Given the description of an element on the screen output the (x, y) to click on. 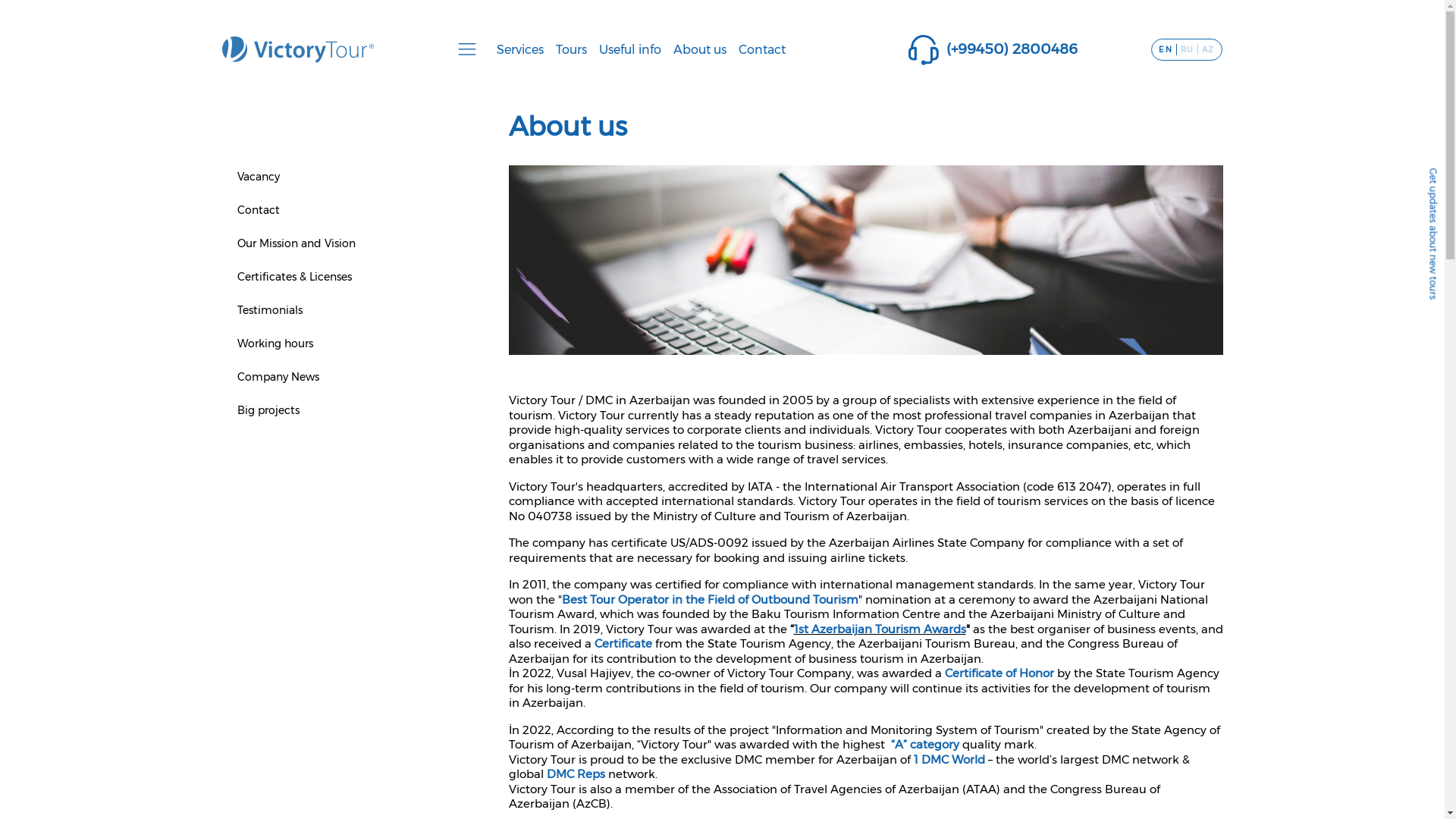
Honeymoon Element type: text (516, 489)
Flights Schedule Element type: text (782, 463)
Early booking in Turkey 2024 Element type: text (558, 438)
EN Element type: text (1165, 49)
Our Mission and Vision Element type: text (295, 243)
Travel Insurance Element type: text (268, 489)
Meet & Assist in Baku Airport Element type: text (302, 515)
About us Element type: text (1017, 412)
Best Tour Operator in the Field of Outbound Tourism Element type: text (709, 598)
Services Element type: text (519, 49)
Testimonials Element type: text (1027, 463)
Certificates & Licenses Element type: text (1051, 489)
Contact Element type: text (257, 209)
Useful information Element type: text (788, 489)
AZ Element type: text (1207, 49)
Airtickets Element type: text (251, 412)
Contact Element type: text (1015, 386)
Group Tours Element type: text (514, 515)
Testimonials Element type: text (268, 309)
For Tourists Element type: text (768, 515)
Cargo shipment Element type: text (269, 541)
All tours Element type: text (505, 386)
New year tours Element type: text (522, 412)
Useful info Element type: text (630, 49)
Certificate of Honor Element type: text (1000, 672)
Certificate Element type: text (623, 643)
Vacancy Element type: text (257, 176)
Tours Element type: text (571, 49)
Terms and Conditons Element type: text (795, 438)
Embassies Element type: text (766, 412)
Contact Element type: text (761, 49)
Company News Element type: text (277, 376)
DMC Reps Element type: text (576, 773)
1st Azerbaijan Tourism Awards Element type: text (879, 628)
Visa support Element type: text (259, 438)
Our Mission and Vision Element type: text (1053, 438)
Baku Airport and Airport Services Element type: text (826, 386)
Europe Element type: text (501, 541)
Big projects Element type: text (267, 410)
RU Element type: text (1187, 49)
Working hours Element type: text (274, 343)
Corporate services Element type: text (274, 386)
Working hours Element type: text (1032, 515)
Airport pick up & Rent a Car Element type: text (300, 463)
1 DMC World Element type: text (950, 759)
Company News Element type: text (1035, 541)
Cruises Element type: text (501, 463)
Certificates & Licenses Element type: text (293, 276)
About us Element type: text (699, 49)
